Given the description of an element on the screen output the (x, y) to click on. 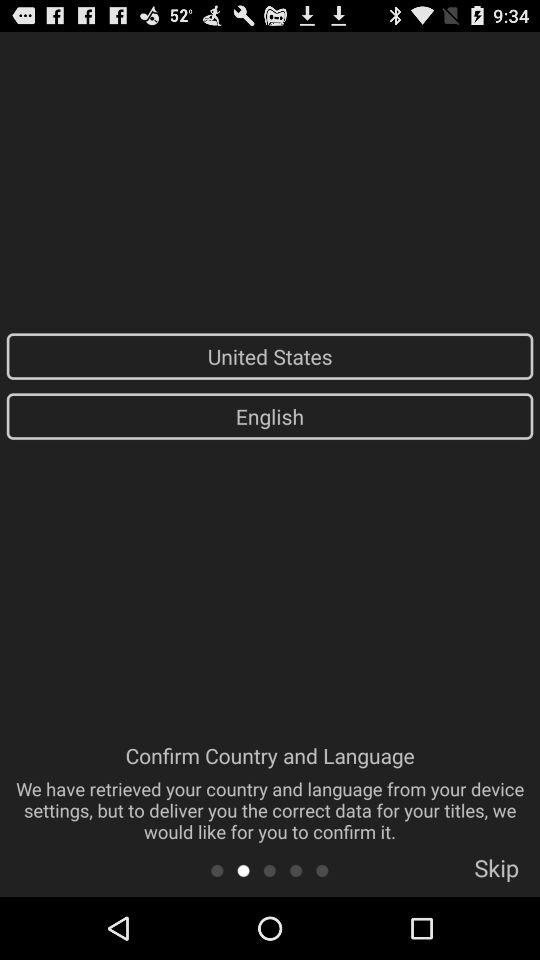
scroll until english app (269, 416)
